Given the description of an element on the screen output the (x, y) to click on. 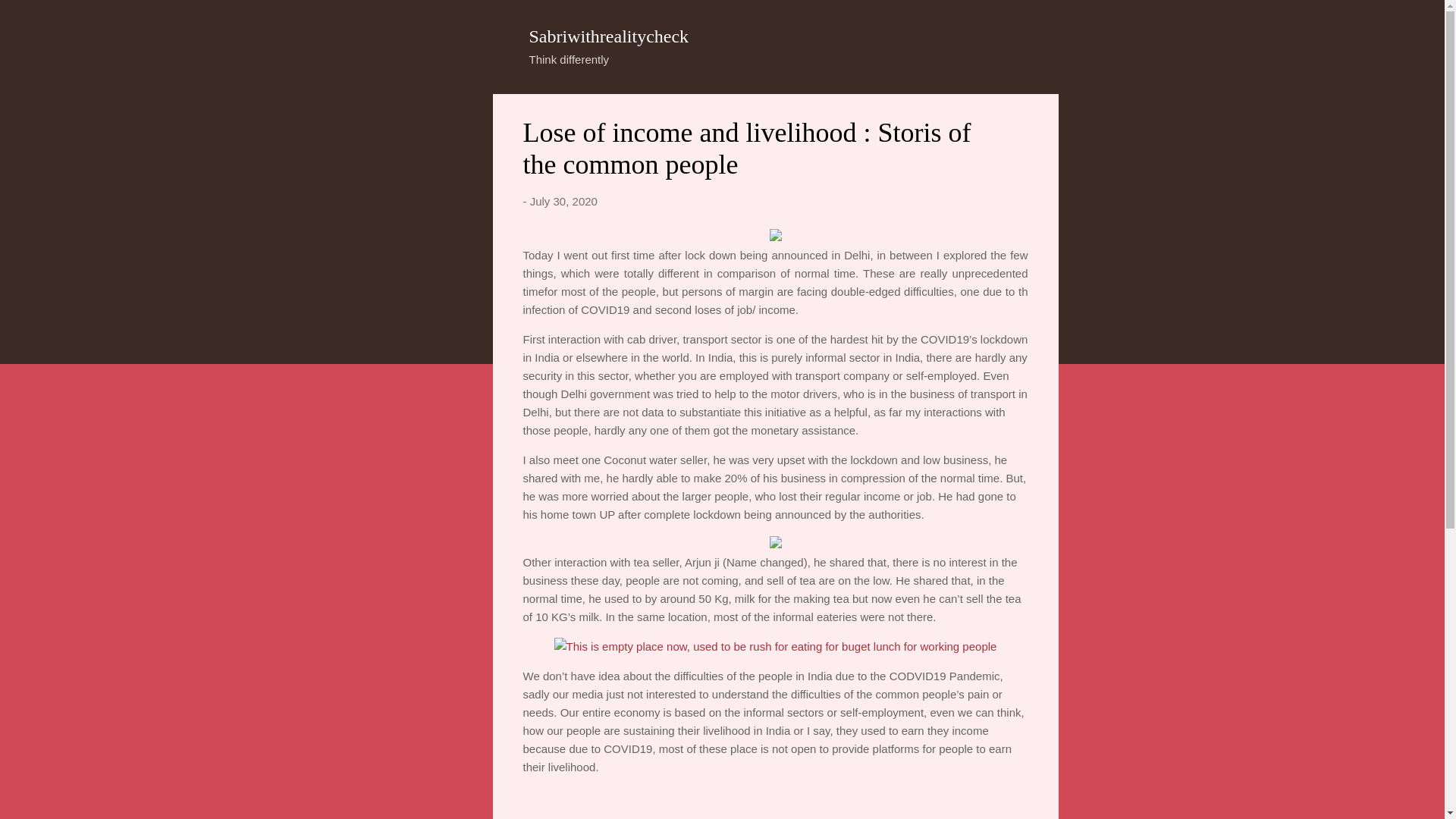
July 30, 2020 (562, 201)
permanent link (562, 201)
Sabriwithrealitycheck (608, 35)
Search (29, 18)
